Given the description of an element on the screen output the (x, y) to click on. 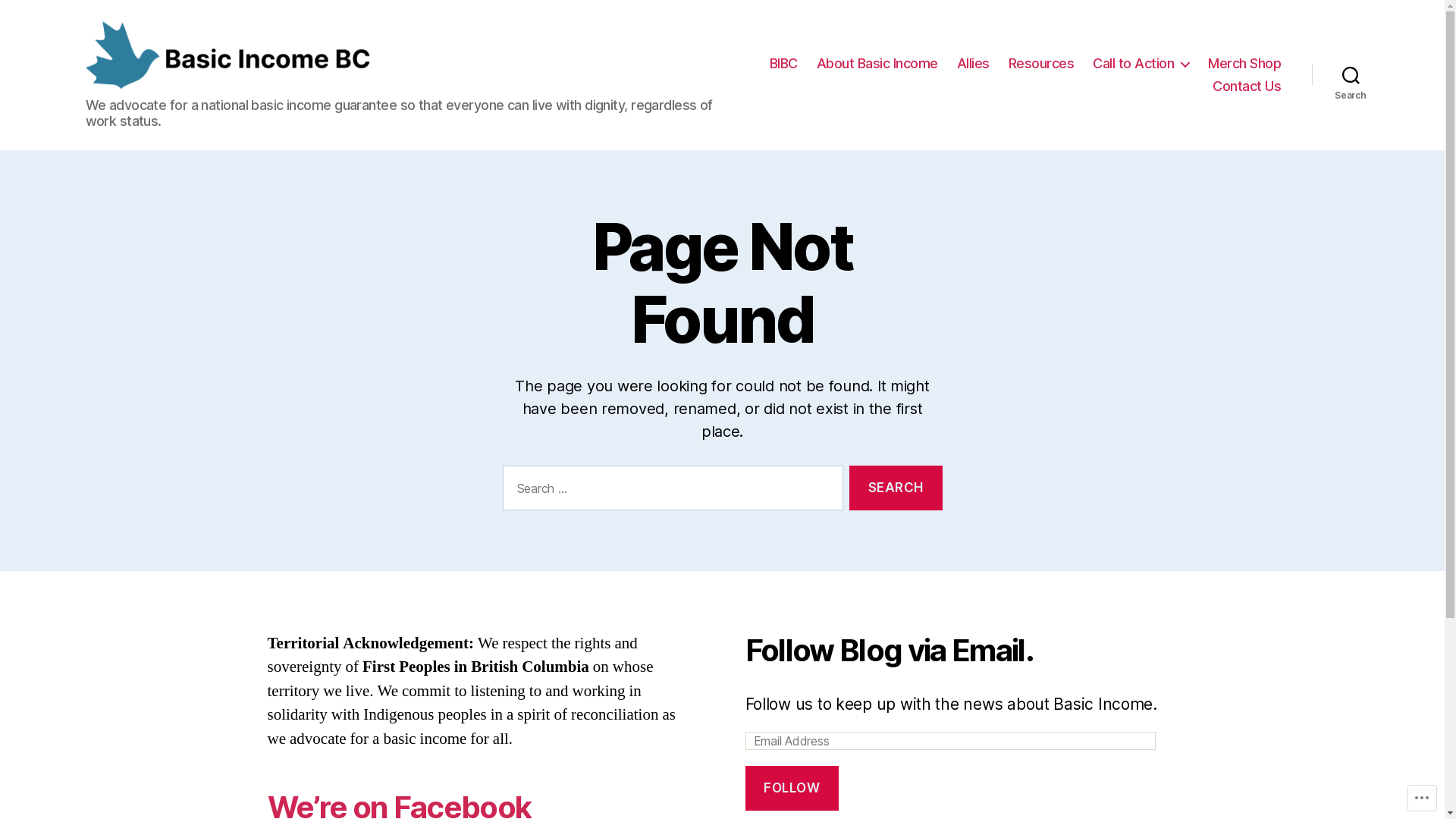
FOLLOW Element type: text (790, 787)
BIBC Element type: text (783, 63)
Merch Shop Element type: text (1244, 63)
Allies Element type: text (973, 63)
Search Element type: text (895, 487)
About Basic Income Element type: text (877, 63)
Call to Action Element type: text (1140, 63)
Search Element type: text (1350, 74)
Resources Element type: text (1041, 63)
Contact Us Element type: text (1246, 86)
